Given the description of an element on the screen output the (x, y) to click on. 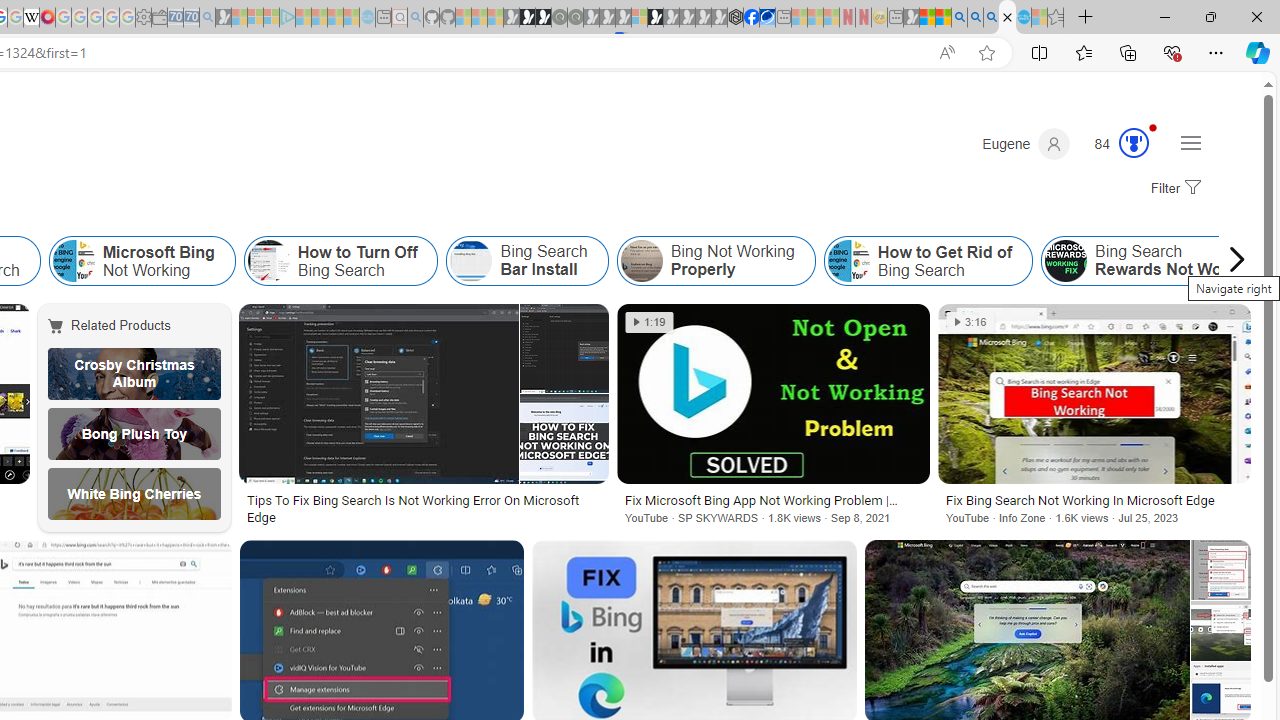
Class: item col (928, 260)
Settings - Sleeping (143, 17)
How to Get Rid of Bing Search (848, 260)
Eugene (1026, 143)
Microsoft Start Gaming - Sleeping (223, 17)
Crosby Christmas Album (134, 373)
Nordace - Cooler Bags (735, 17)
Bing Search Not Working - Search Images (1007, 17)
New tab - Sleeping (895, 17)
